Given the description of an element on the screen output the (x, y) to click on. 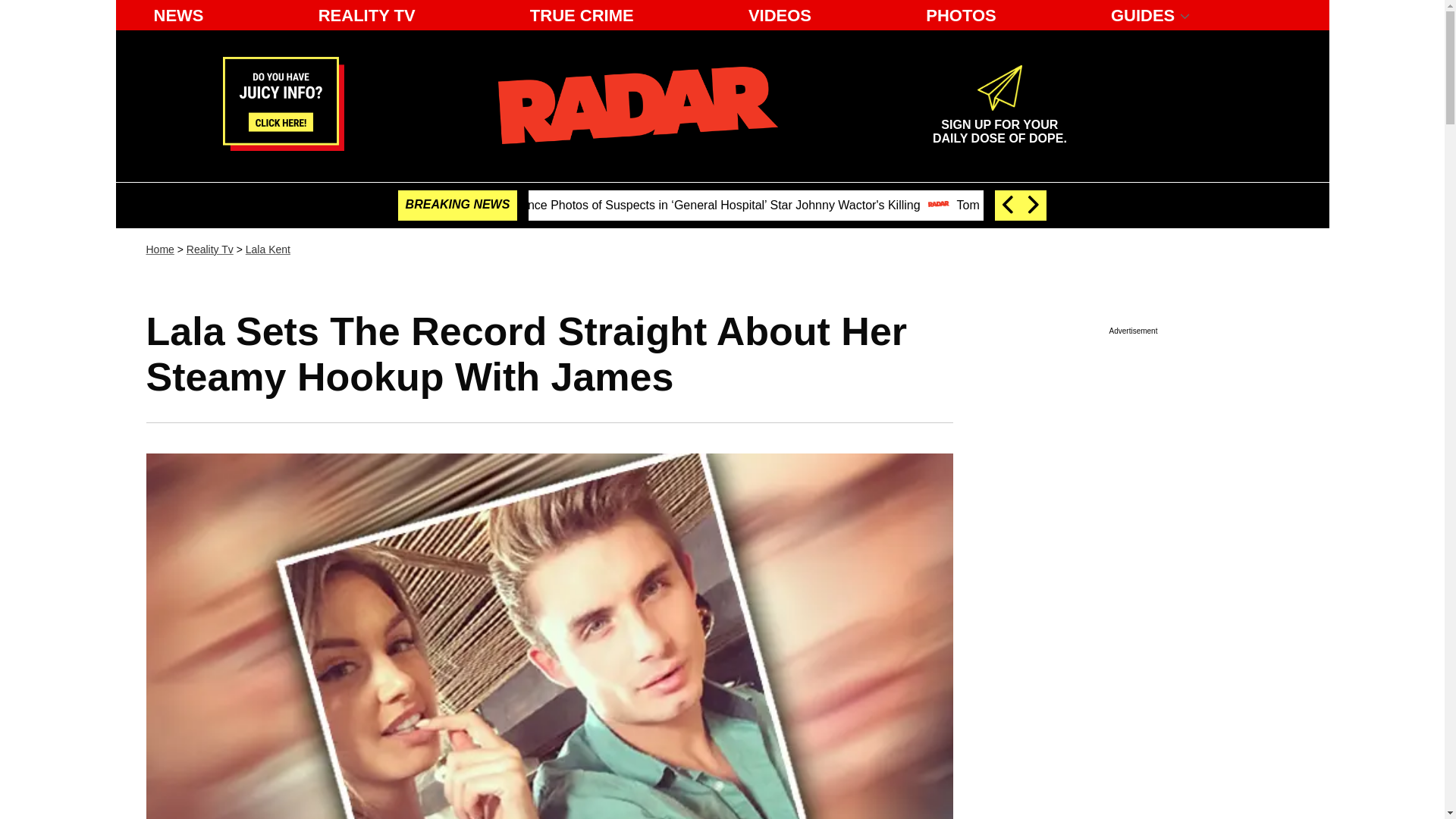
Email us your tip (282, 146)
Home (159, 249)
PHOTOS (961, 15)
TRUE CRIME (582, 15)
Sign up for your daily dose of dope. (999, 124)
Radar Online (637, 105)
Lala Kent (999, 124)
NEWS (267, 249)
REALITY TV (178, 15)
Reality Tv (367, 15)
VIDEOS (209, 249)
